Given the description of an element on the screen output the (x, y) to click on. 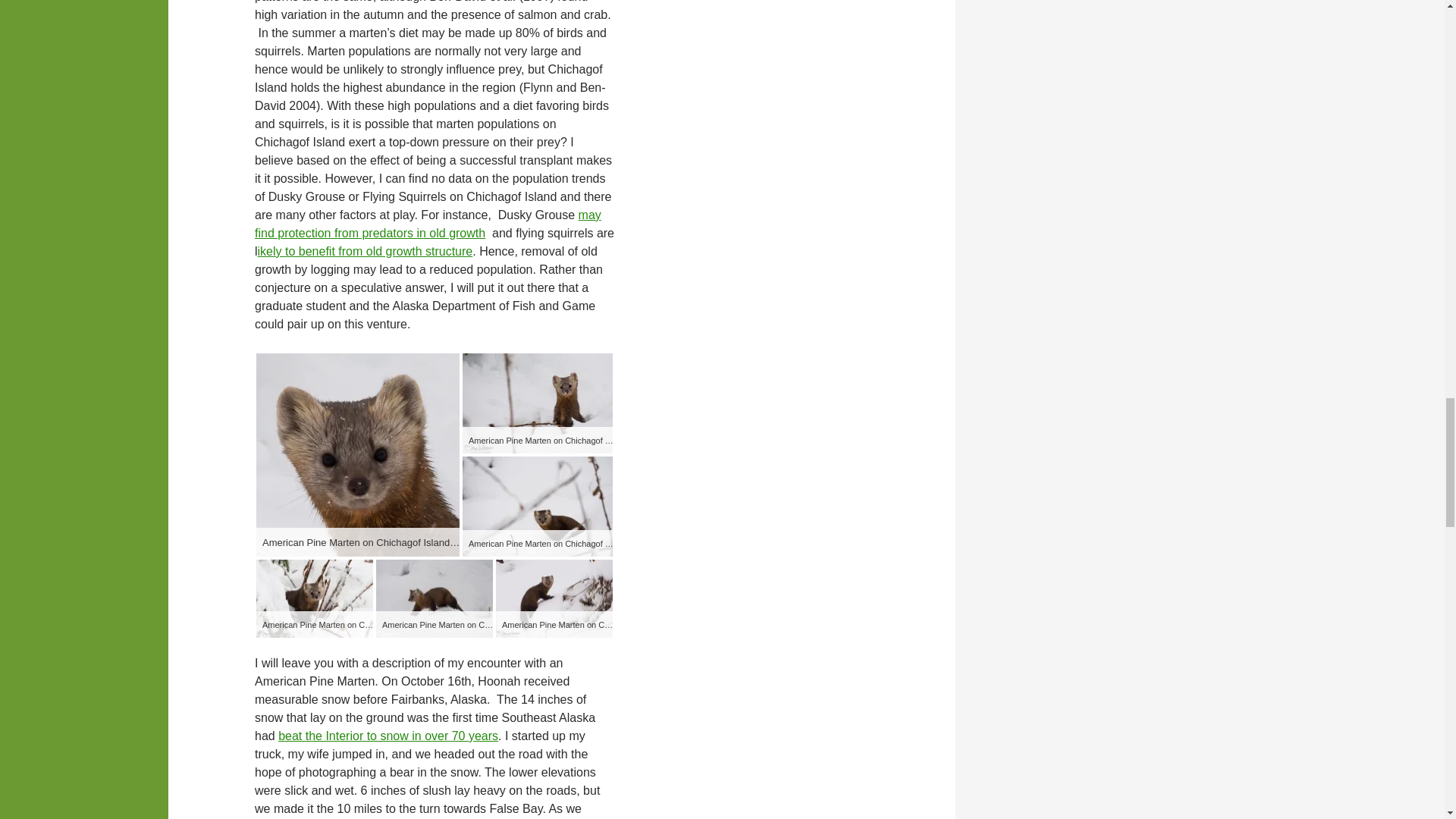
may find protection from predators in old growth (427, 223)
beat the Interior to snow in over 70 years (387, 735)
ikely to benefit from old growth structure (365, 250)
